Given the description of an element on the screen output the (x, y) to click on. 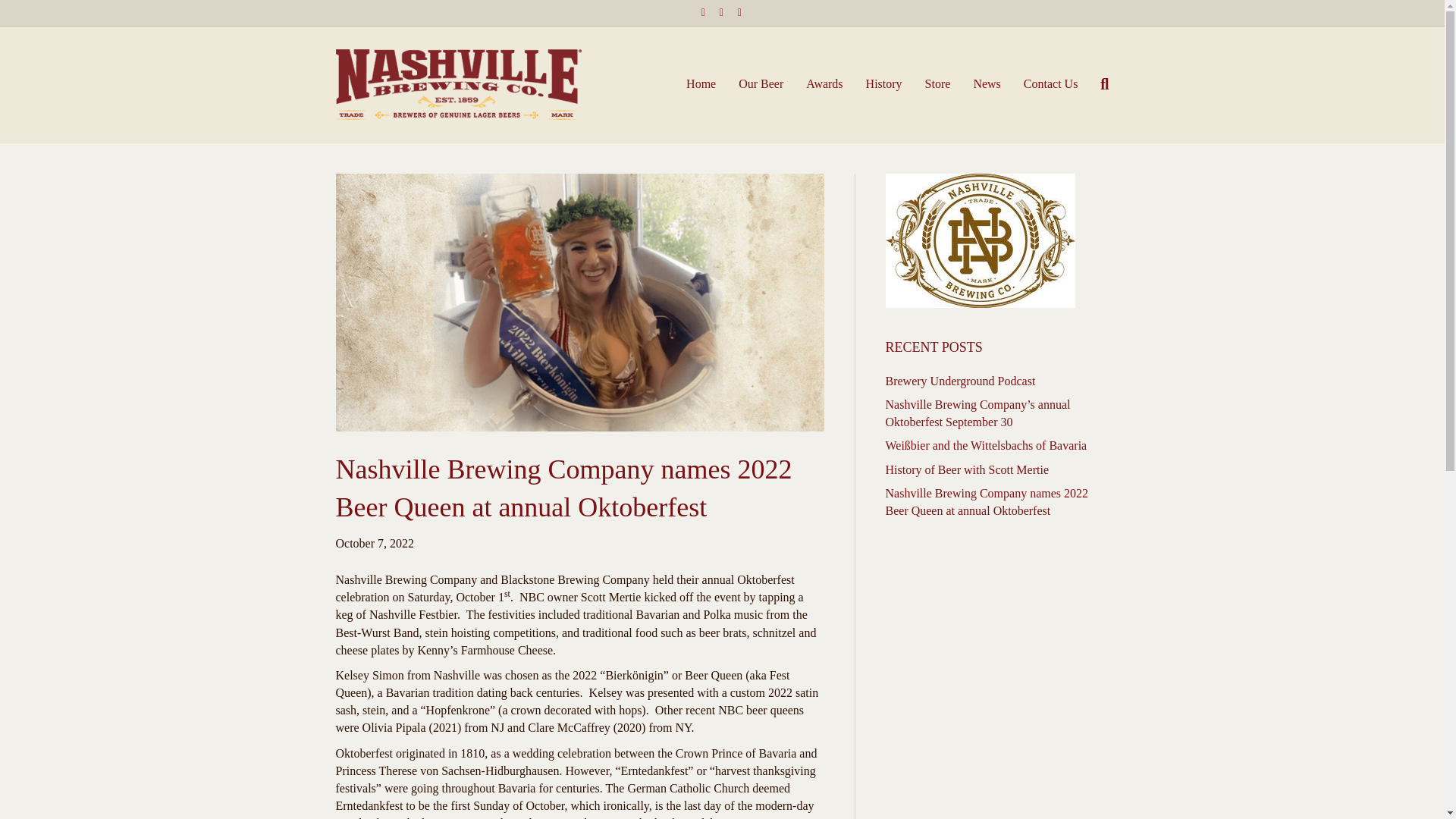
History (884, 84)
Awards (823, 84)
Instagram (739, 11)
News (985, 84)
Store (938, 84)
Contact Us (1050, 84)
Home (700, 84)
Twitter (721, 11)
Our Beer (760, 84)
History of Beer with Scott Mertie (967, 469)
